Given the description of an element on the screen output the (x, y) to click on. 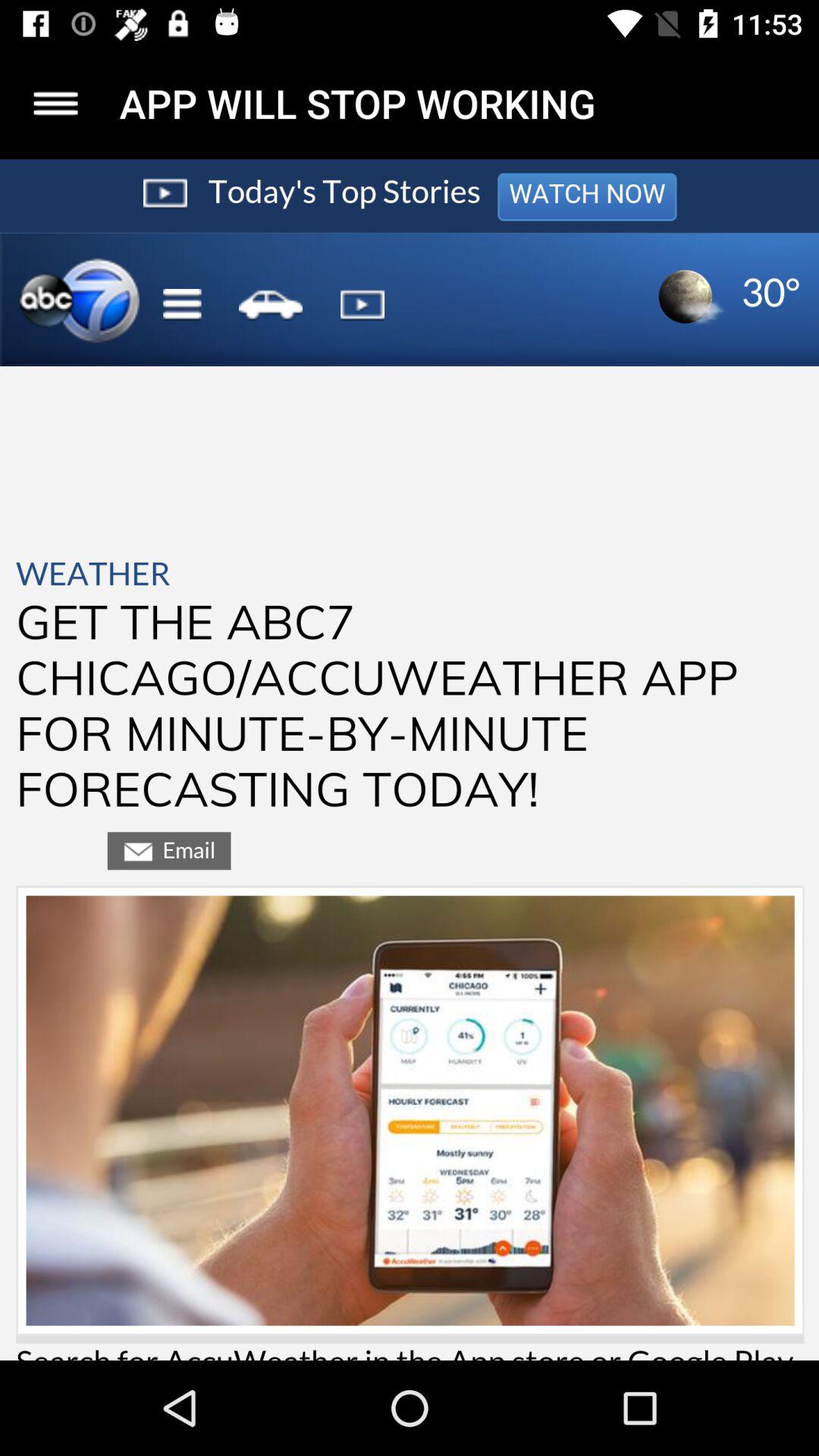
menu icon (55, 103)
